Given the description of an element on the screen output the (x, y) to click on. 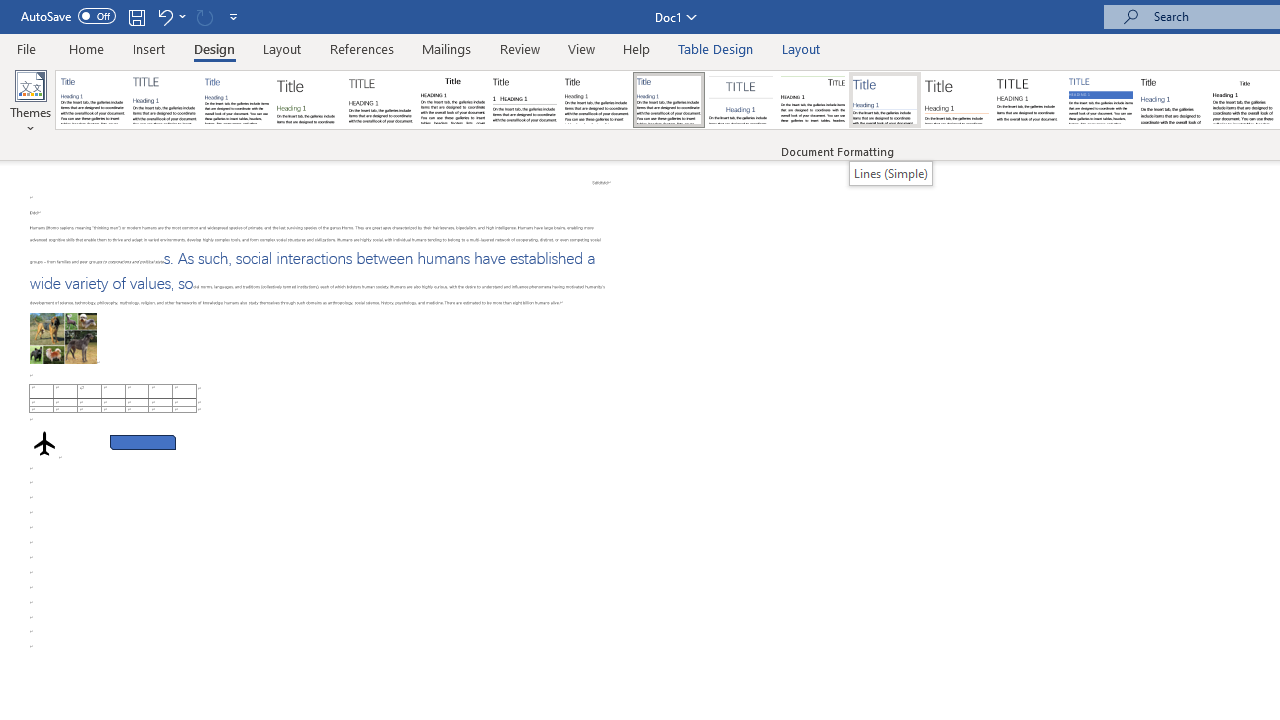
Lines (Simple) (884, 100)
Shaded (1100, 100)
Centered (740, 100)
Black & White (Numbered) (524, 100)
Morphological variation in six dogs (63, 328)
Basic (Simple) (236, 100)
Undo Apply Quick Style Set (170, 15)
